Given the description of an element on the screen output the (x, y) to click on. 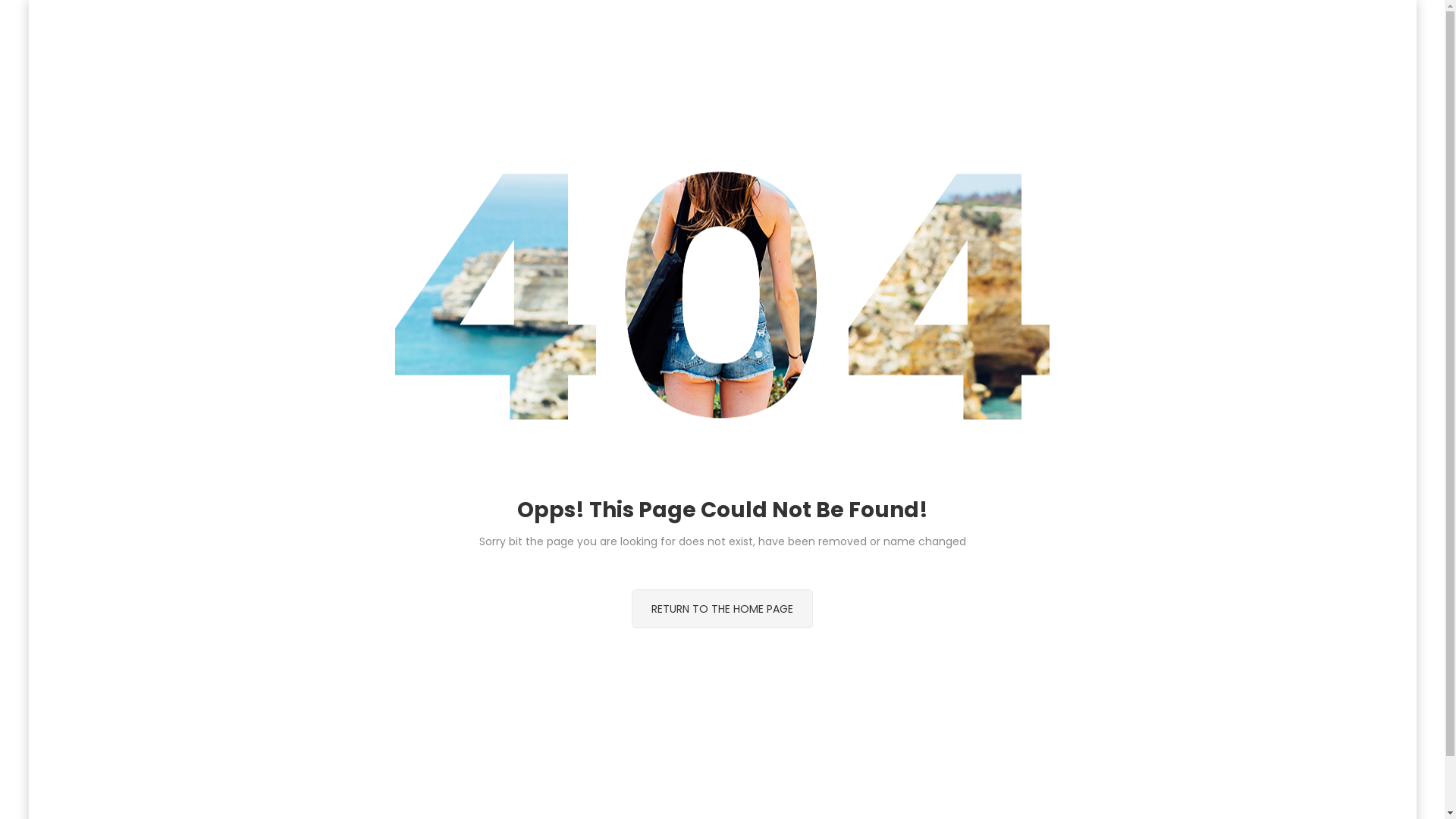
RETURN TO THE HOME PAGE Element type: text (721, 608)
